Given the description of an element on the screen output the (x, y) to click on. 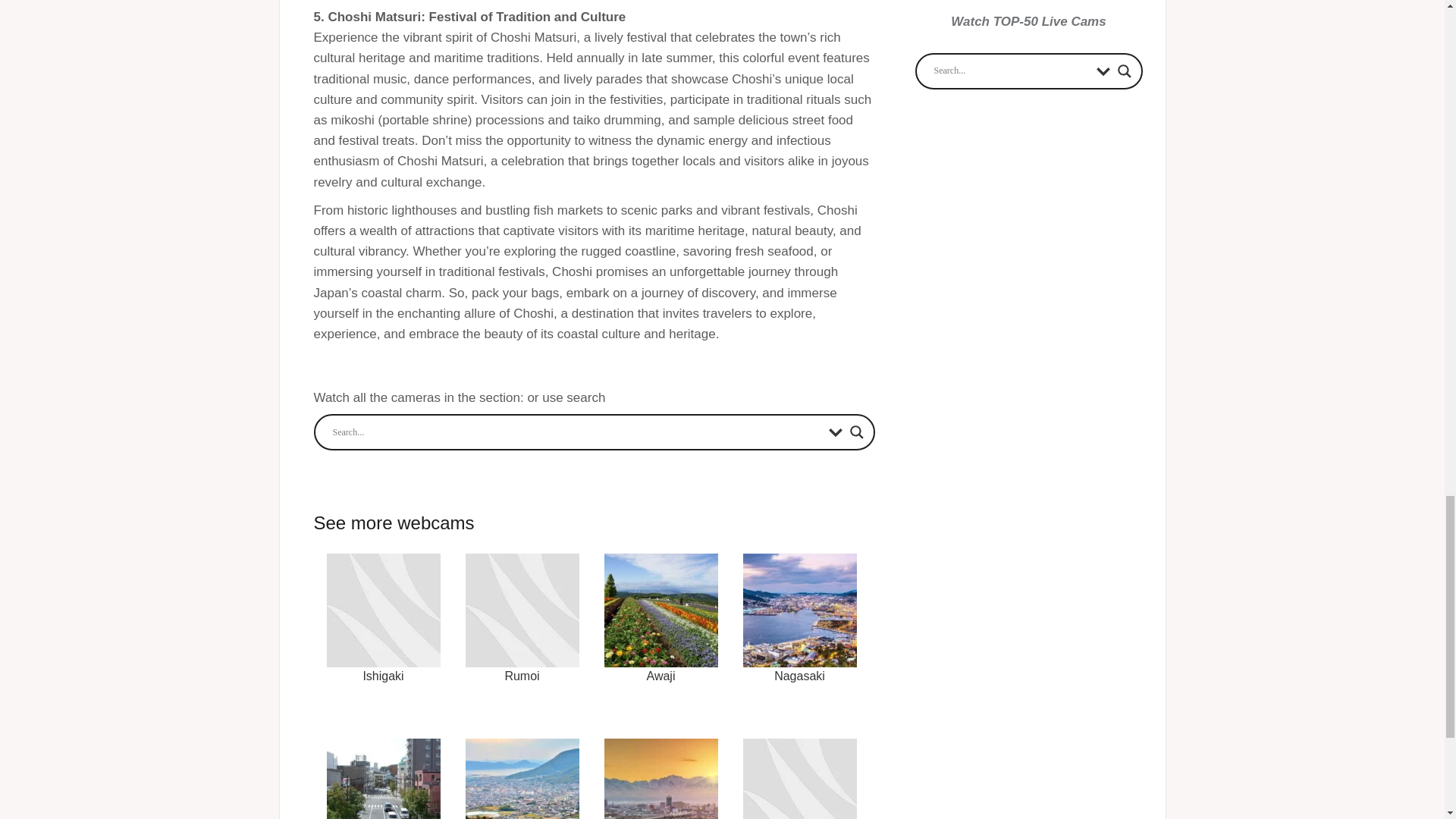
Muroran (383, 772)
Nago (799, 772)
Takamatsu (521, 772)
Toyama (660, 772)
